Given the description of an element on the screen output the (x, y) to click on. 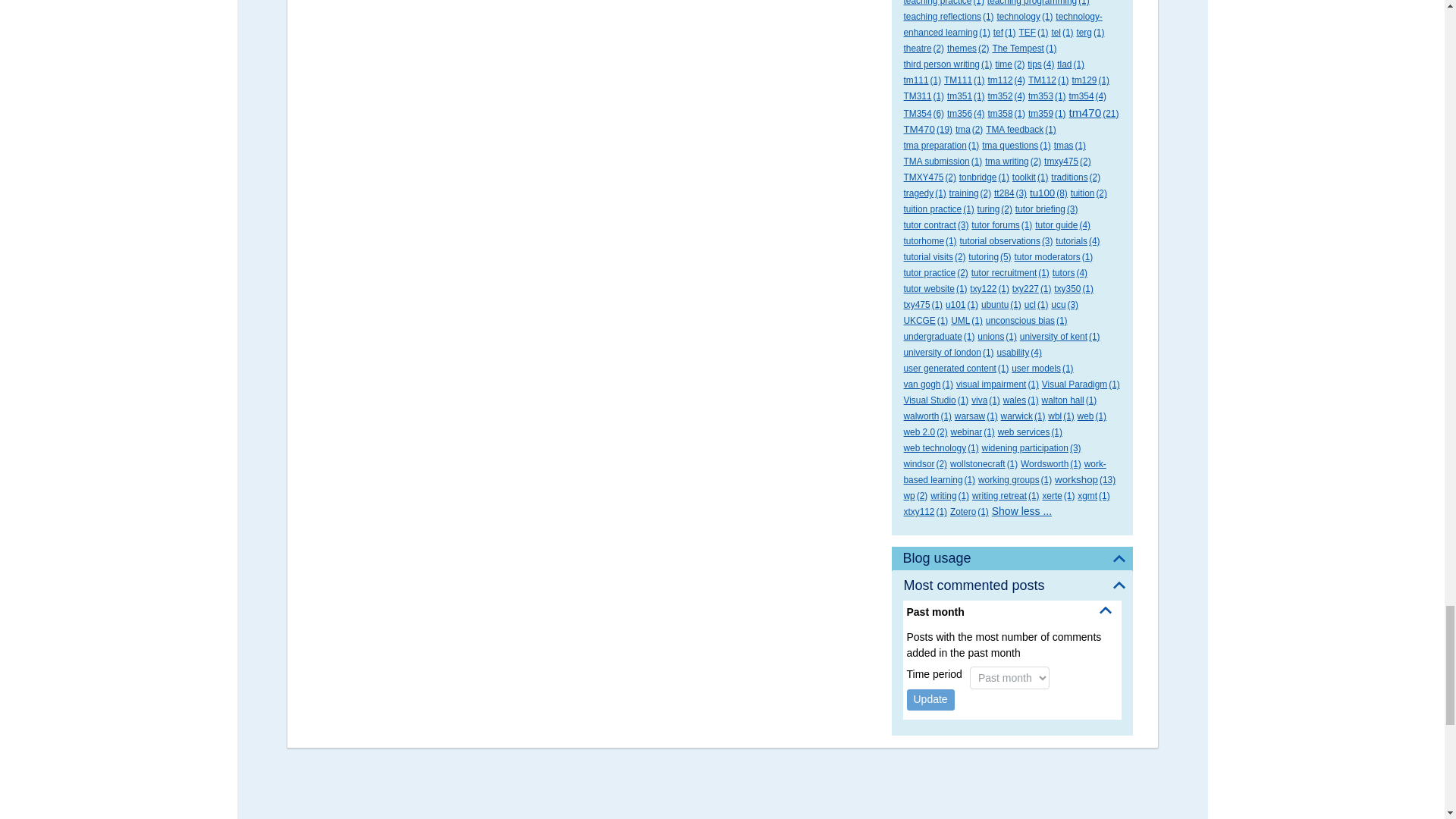
Blog usage (1011, 558)
Hide options (1105, 610)
Update (931, 699)
